Given the description of an element on the screen output the (x, y) to click on. 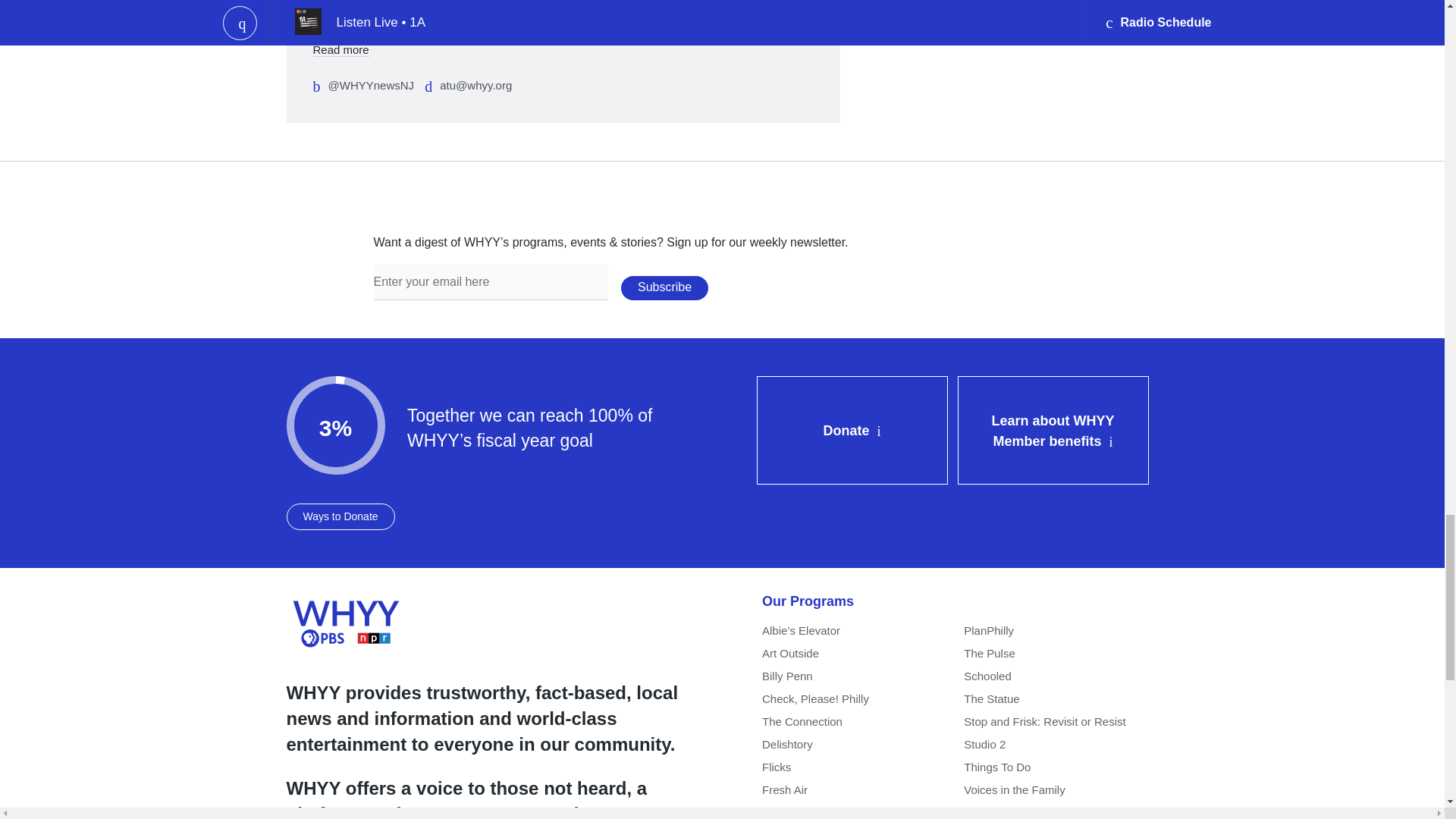
Subscribe (664, 288)
